Given the description of an element on the screen output the (x, y) to click on. 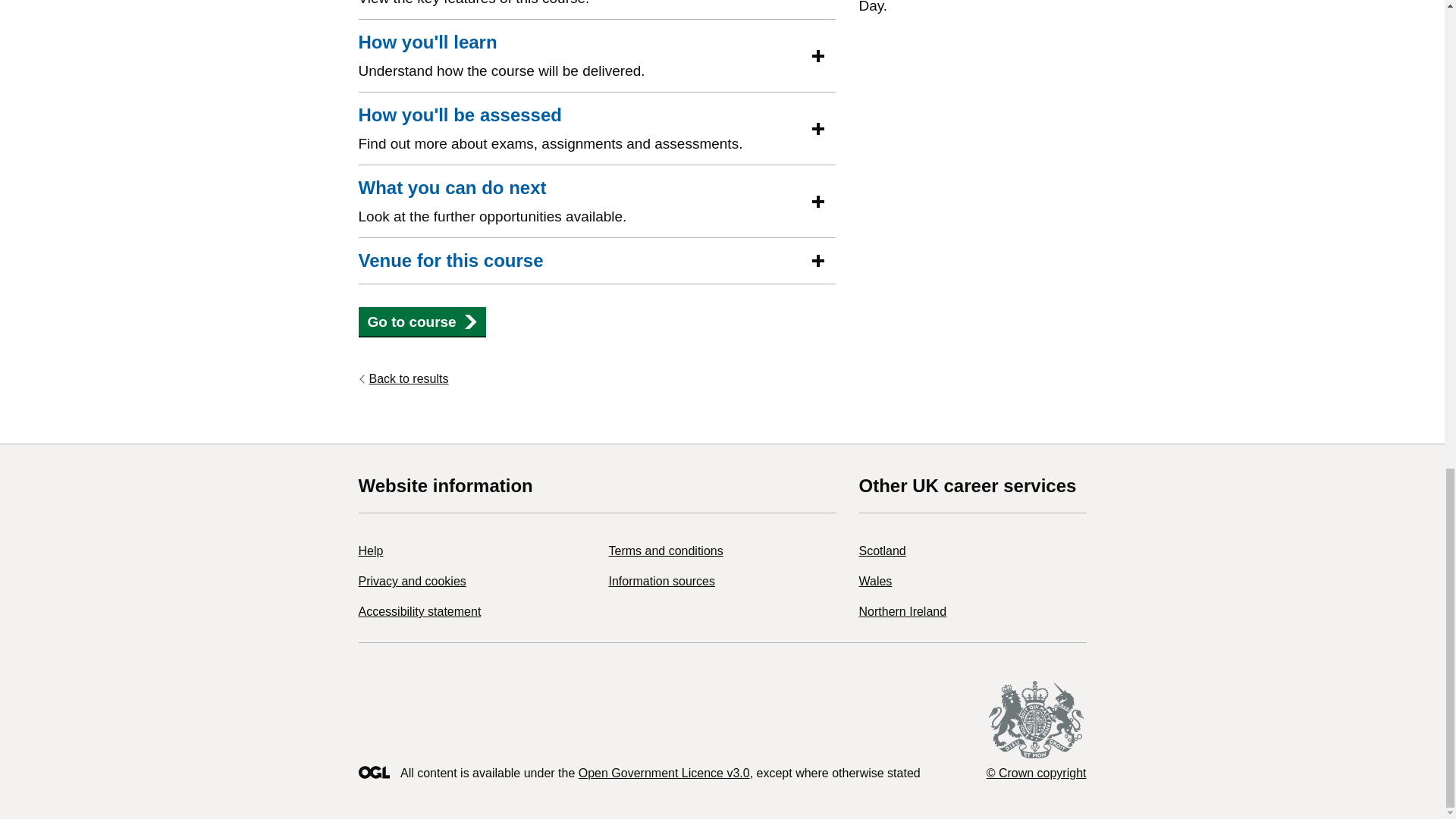
Venue for this course (450, 260)
What you can do next (452, 187)
How you'll learn (427, 42)
Go to course (422, 321)
Back to results (403, 378)
How you'll be assessed (459, 115)
Help (370, 550)
